Given the description of an element on the screen output the (x, y) to click on. 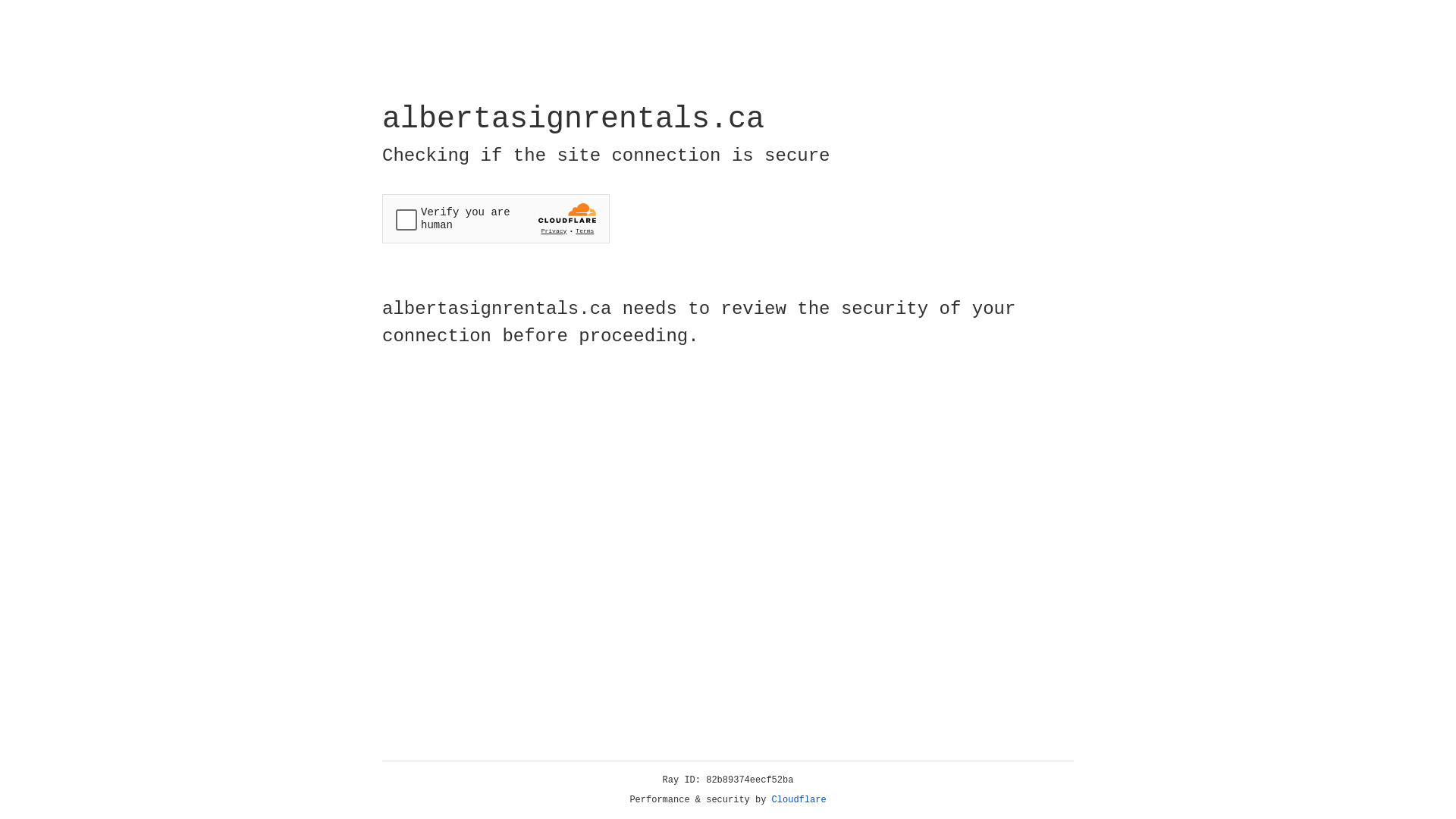
Cloudflare Element type: text (798, 799)
Widget containing a Cloudflare security challenge Element type: hover (495, 218)
